Given the description of an element on the screen output the (x, y) to click on. 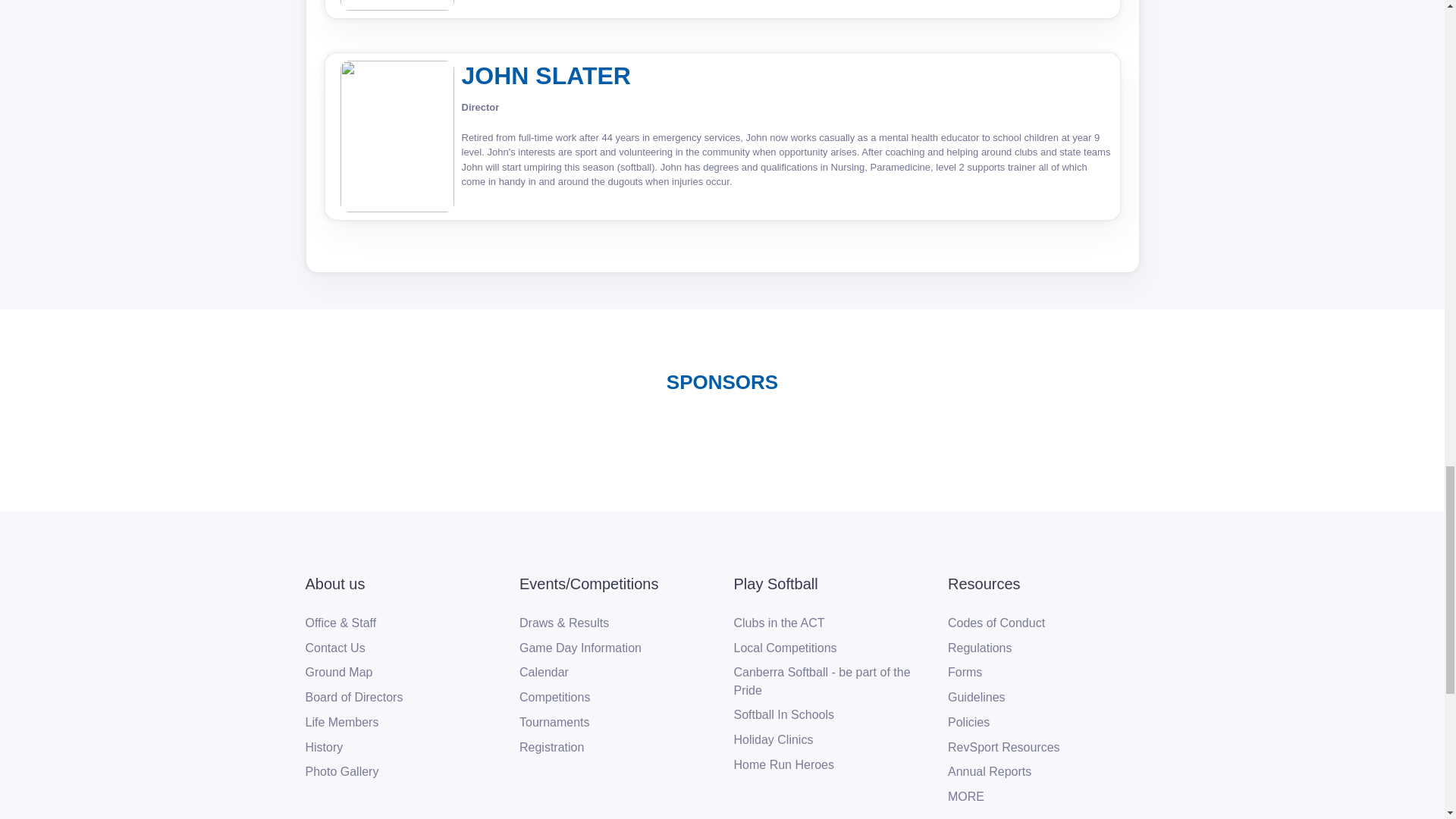
Opens in new window (1003, 747)
Opens in new window (588, 583)
Opens in new window (323, 747)
Opens in new window (783, 764)
